Given the description of an element on the screen output the (x, y) to click on. 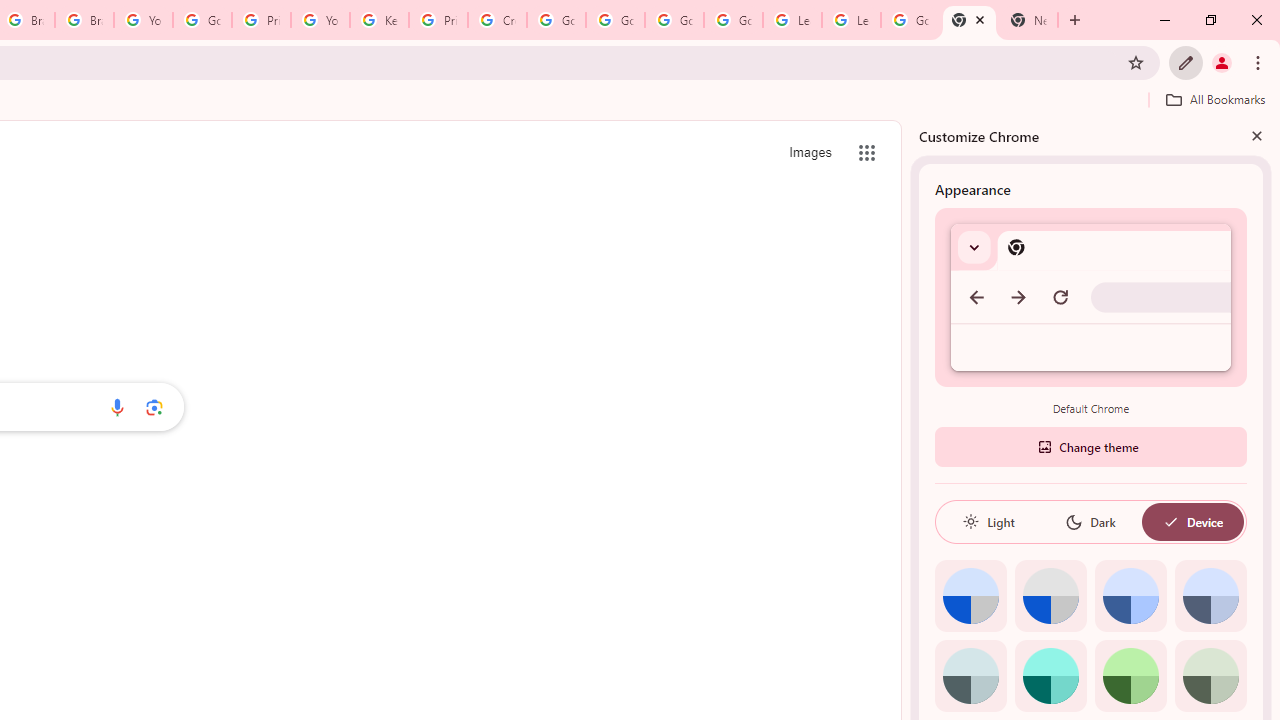
New Tab (969, 20)
Dark (1090, 521)
Change theme (1090, 446)
Device (1192, 521)
Viridian (1210, 676)
Google Account Help (674, 20)
Blue (1130, 596)
Green (1130, 676)
